Given the description of an element on the screen output the (x, y) to click on. 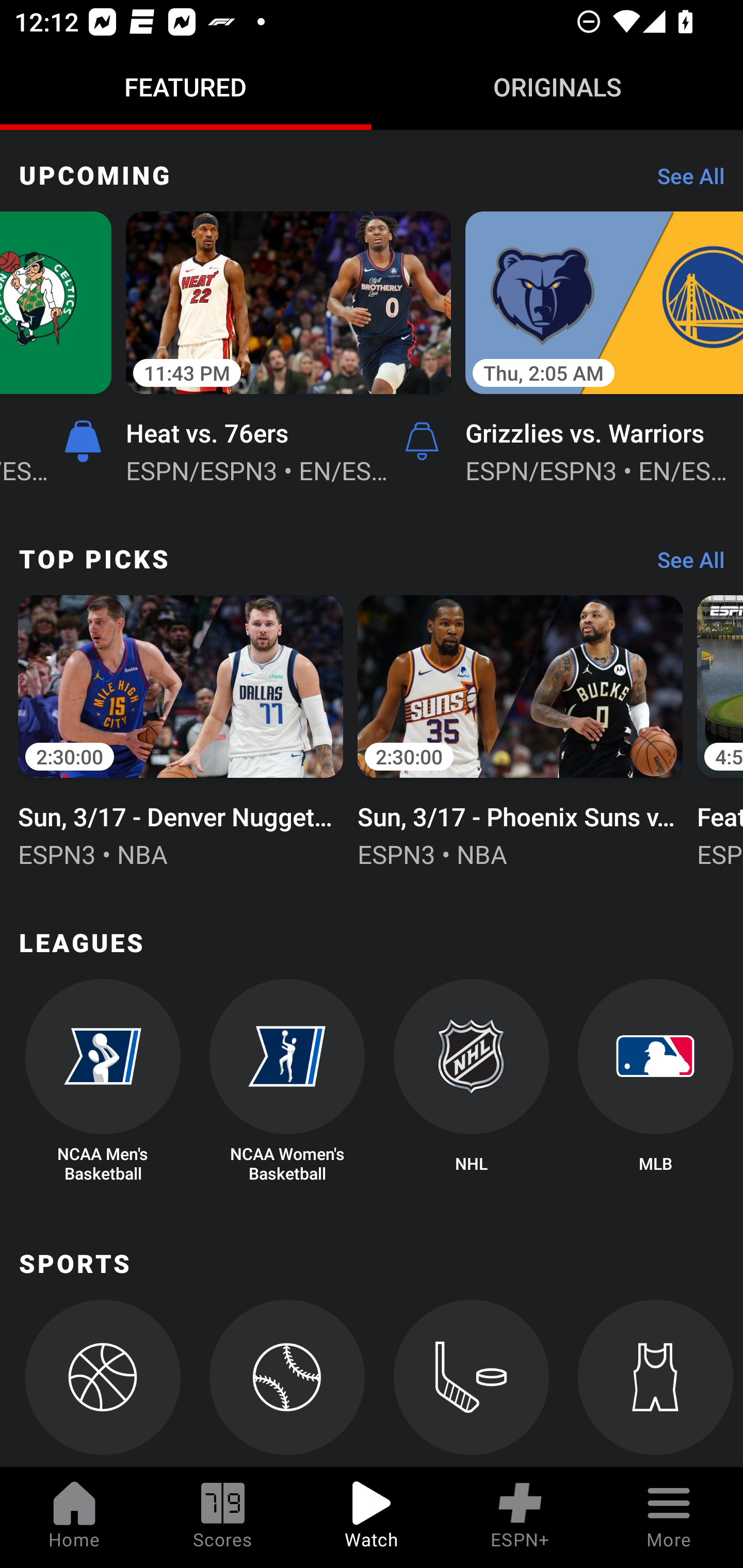
Originals ORIGINALS (557, 86)
See All (683, 180)
Alerts (422, 441)
See All (683, 564)
NCAA Men's Basketball (102, 1081)
NCAA Women's Basketball (286, 1081)
NHL (471, 1081)
MLB (655, 1081)
Basketball (102, 1383)
Baseball (286, 1383)
Hockey (471, 1383)
Wrestling (655, 1383)
Home (74, 1517)
Scores (222, 1517)
ESPN+ (519, 1517)
More (668, 1517)
